Given the description of an element on the screen output the (x, y) to click on. 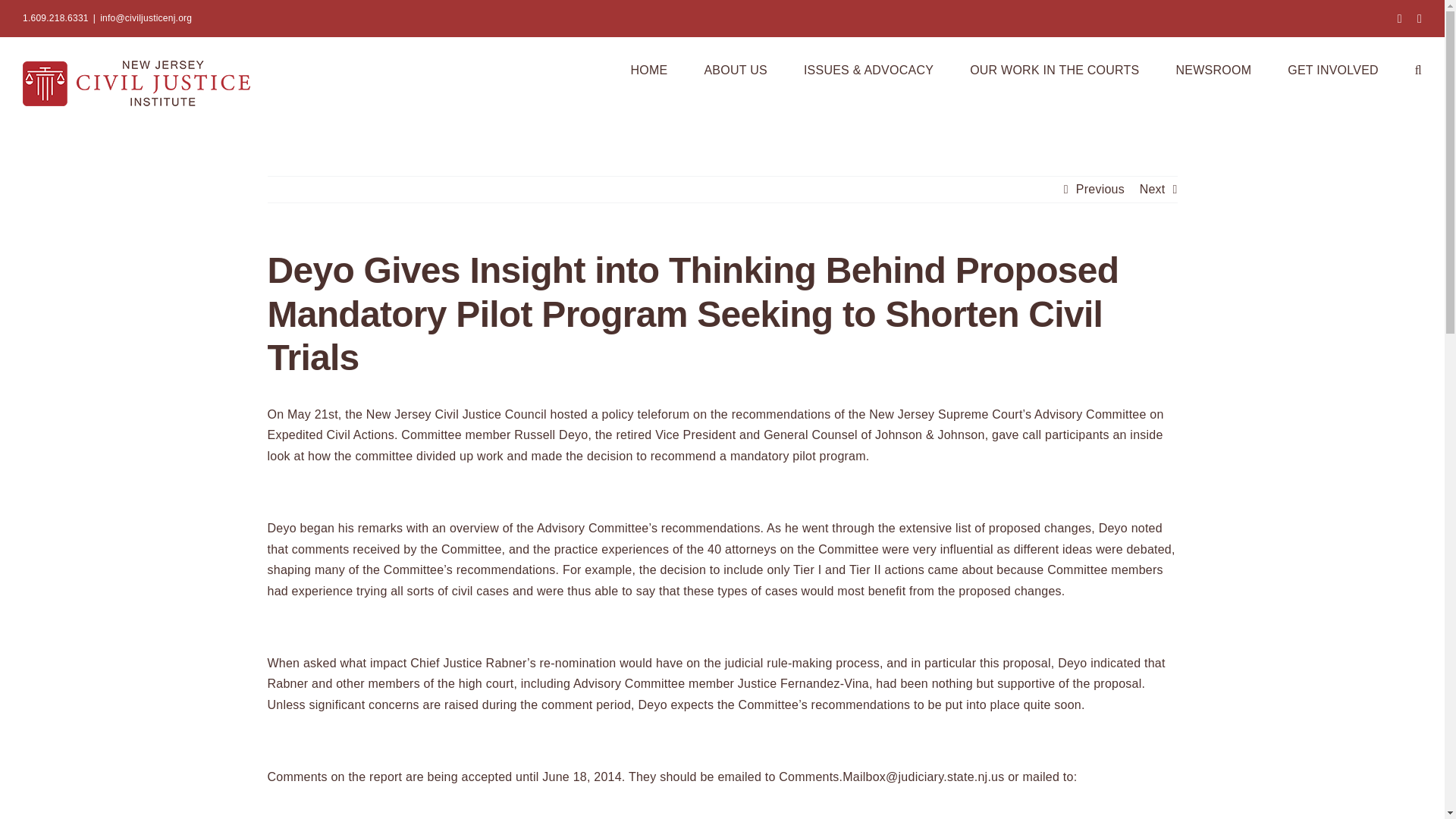
GET INVOLVED (1332, 68)
1.609.218.6331 (55, 18)
Previous (1099, 189)
OUR WORK IN THE COURTS (1053, 68)
Next (1153, 189)
NEWSROOM (1212, 68)
ABOUT US (735, 68)
